Given the description of an element on the screen output the (x, y) to click on. 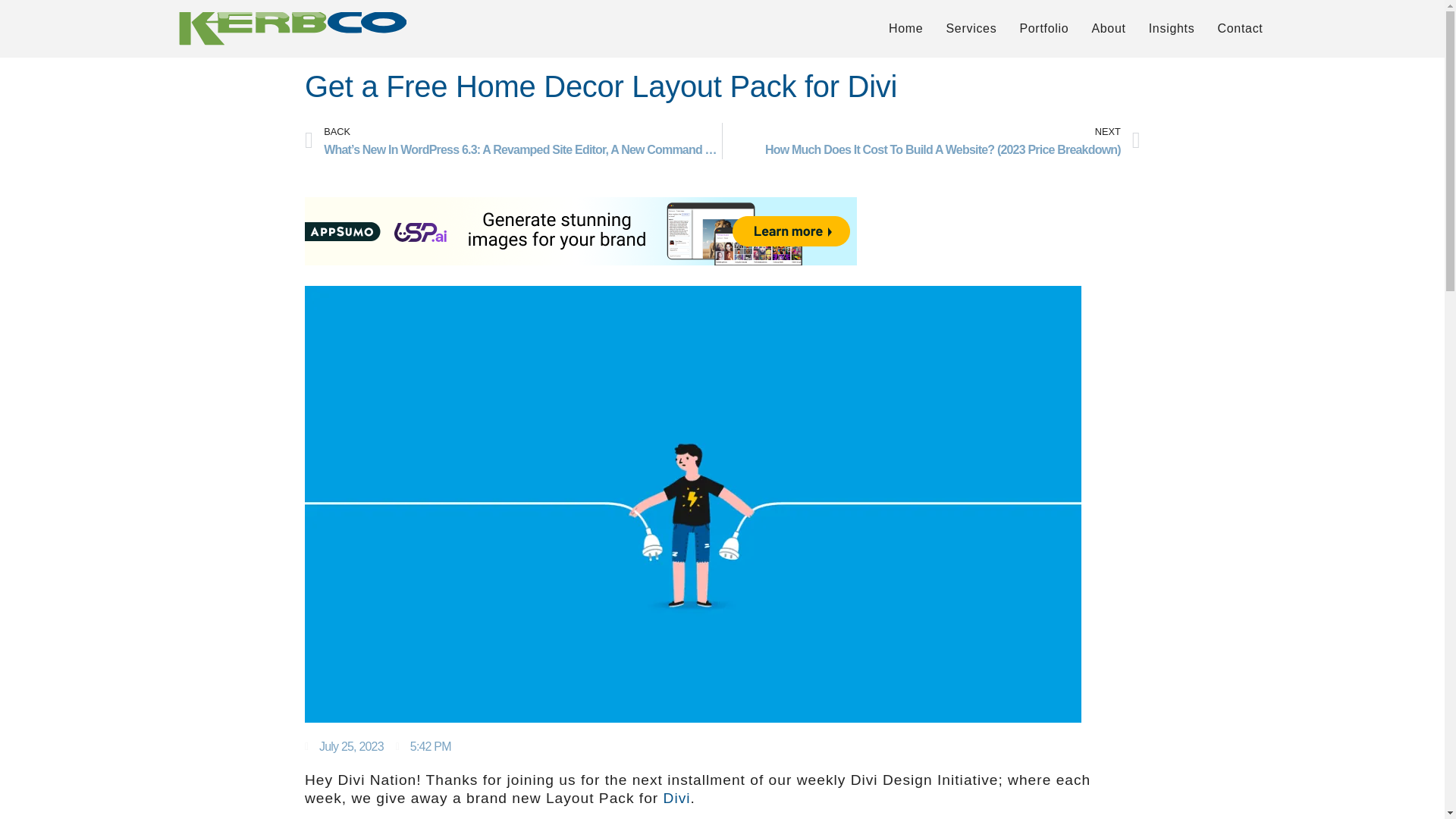
Home (905, 28)
Divi (676, 797)
Insights (1172, 28)
Contact (1239, 28)
Services (970, 28)
Portfolio (1043, 28)
About (1108, 28)
